Given the description of an element on the screen output the (x, y) to click on. 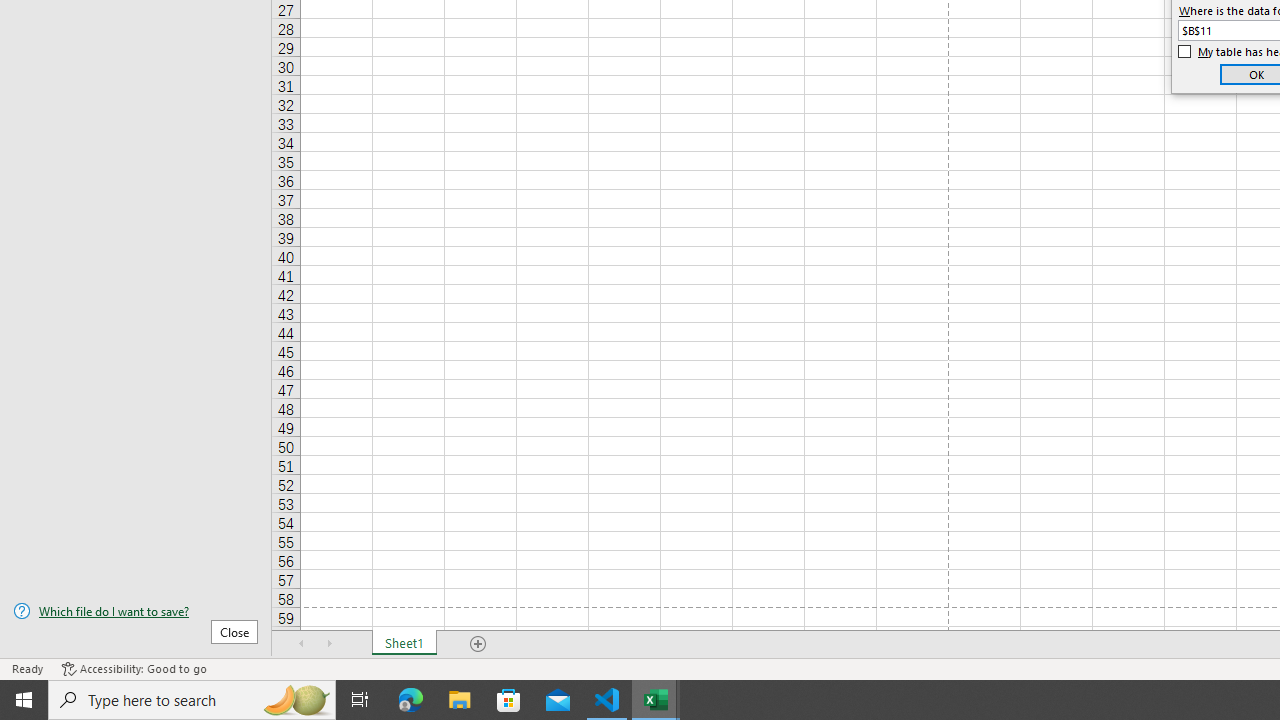
Which file do I want to save? (136, 611)
